Given the description of an element on the screen output the (x, y) to click on. 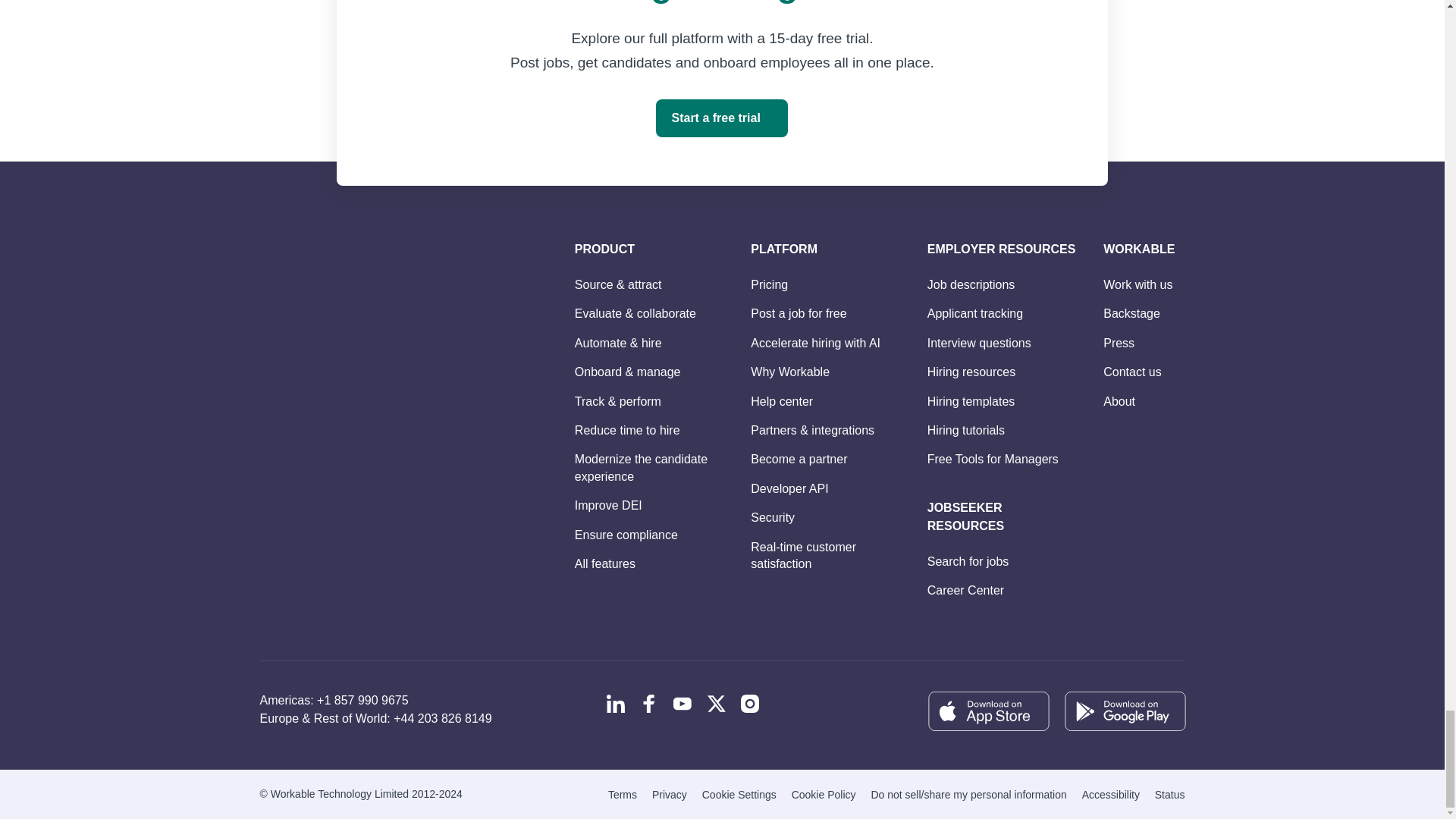
Workable on Facebook (649, 703)
Workable on Linkedin (615, 703)
